Given the description of an element on the screen output the (x, y) to click on. 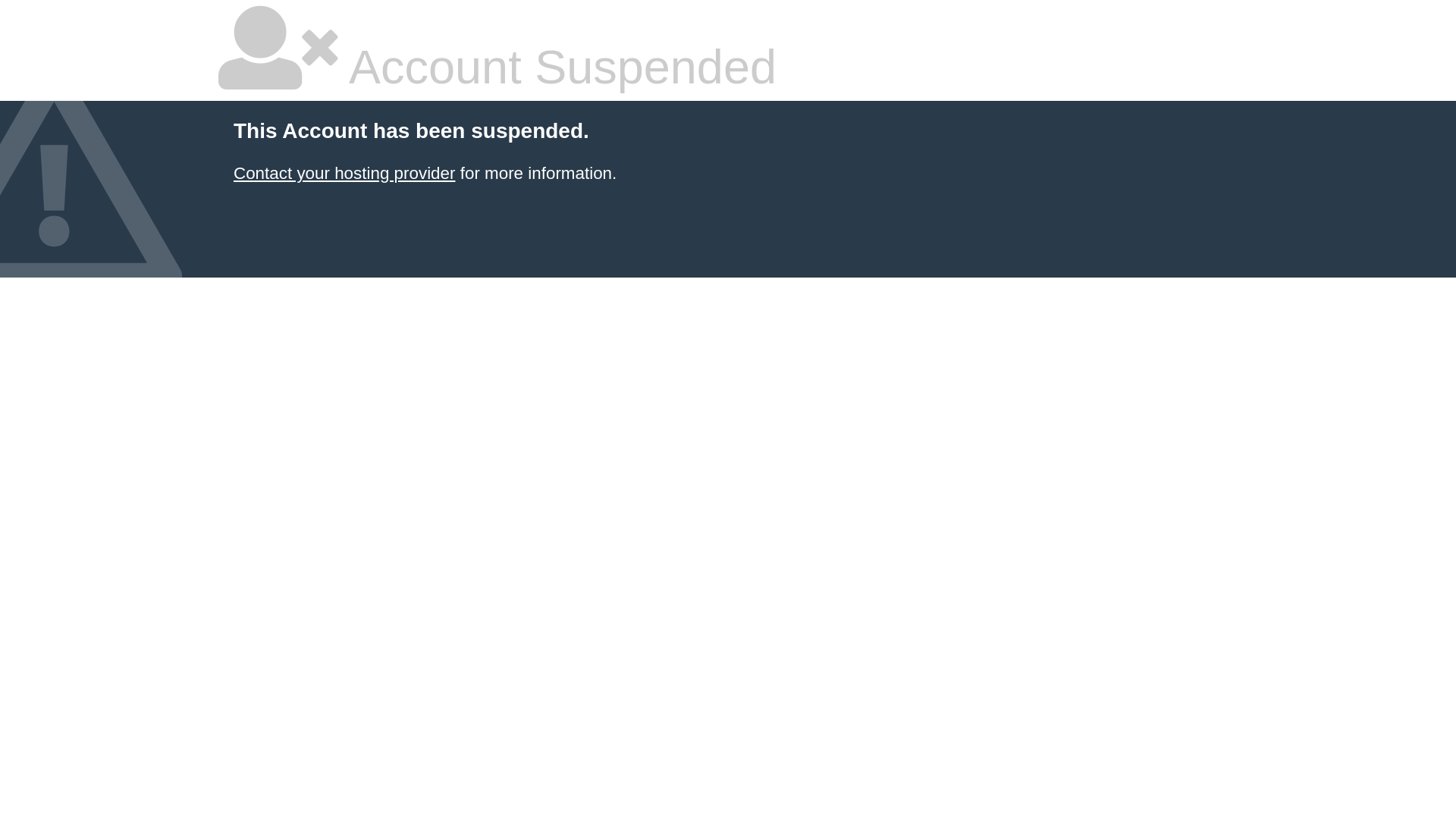
Contact your hosting provider Element type: text (344, 172)
